Given the description of an element on the screen output the (x, y) to click on. 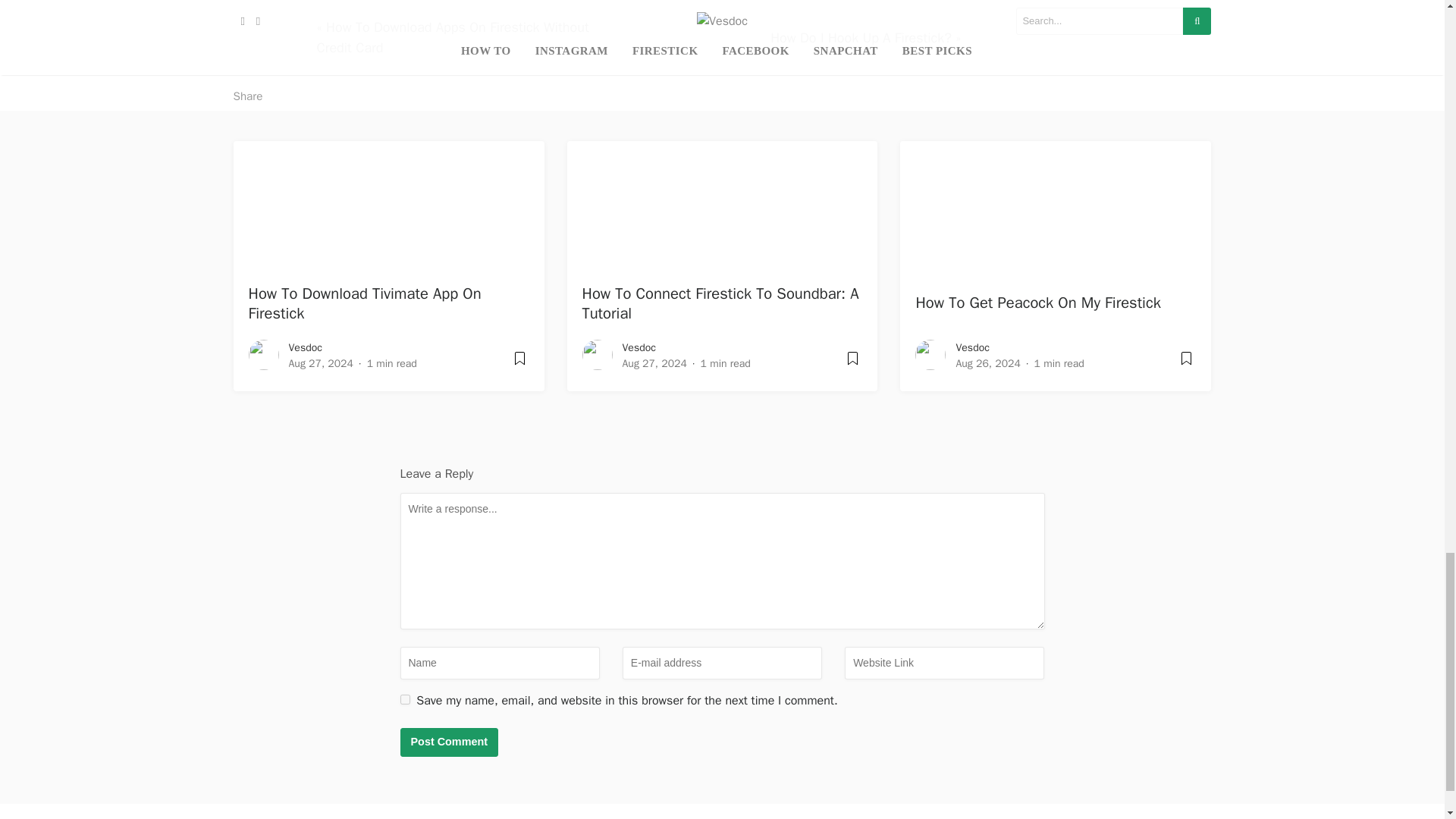
Vesdoc (304, 347)
How Do I Hook Up A Firestick? (861, 37)
How To Download Tivimate App On Firestick (364, 302)
Post Comment (449, 742)
How To Download Apps On Firestick Without Credit Card (451, 37)
yes (405, 699)
